Given the description of an element on the screen output the (x, y) to click on. 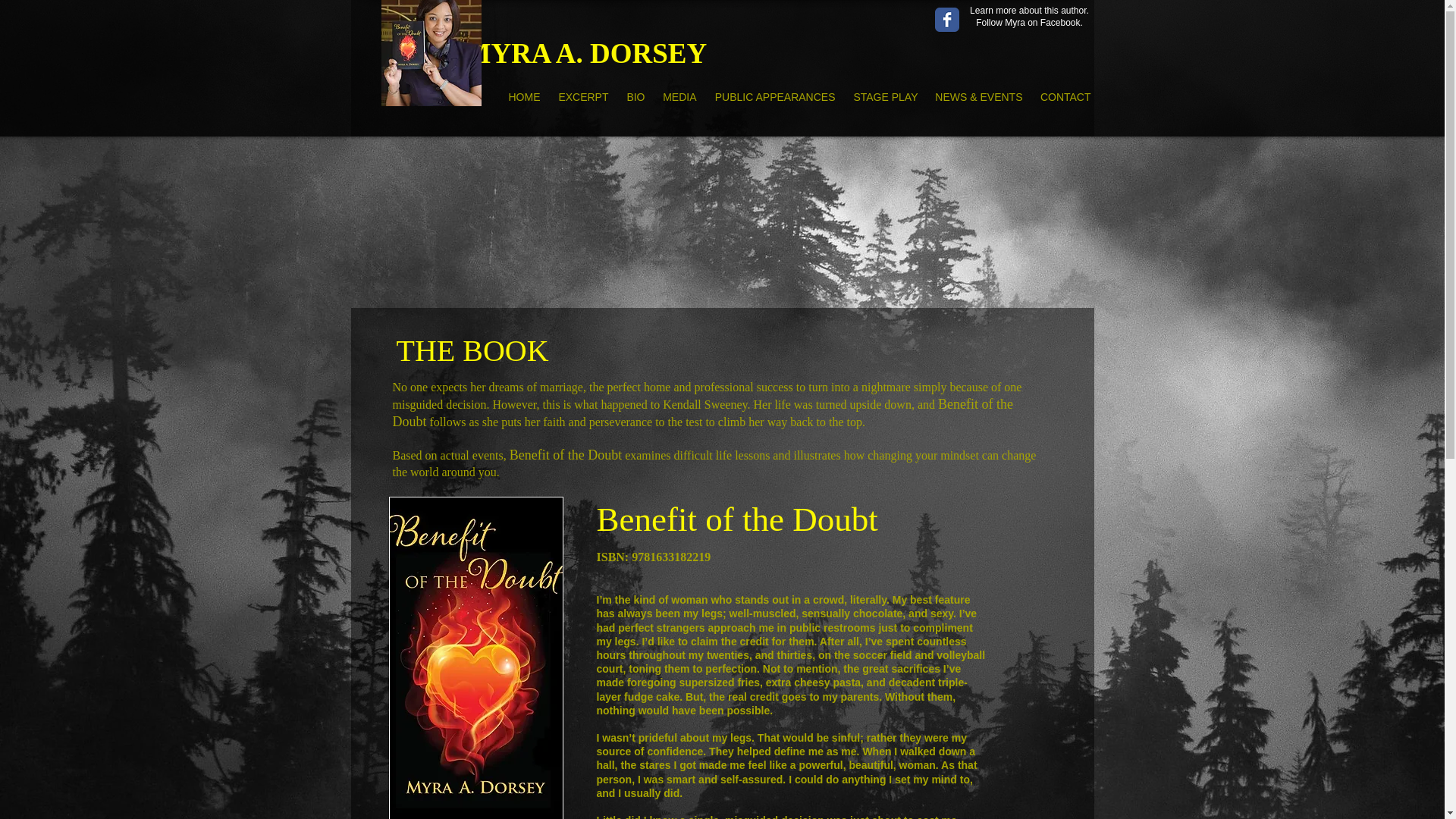
EXCERPT (582, 97)
MEDIA (678, 97)
CONTACT (1064, 97)
STAGE PLAY (884, 97)
BIO (635, 97)
for stage play.jpg (430, 53)
PUBLIC APPEARANCES (774, 97)
MYRA A. DORSEY (585, 60)
HOME (523, 97)
